Given the description of an element on the screen output the (x, y) to click on. 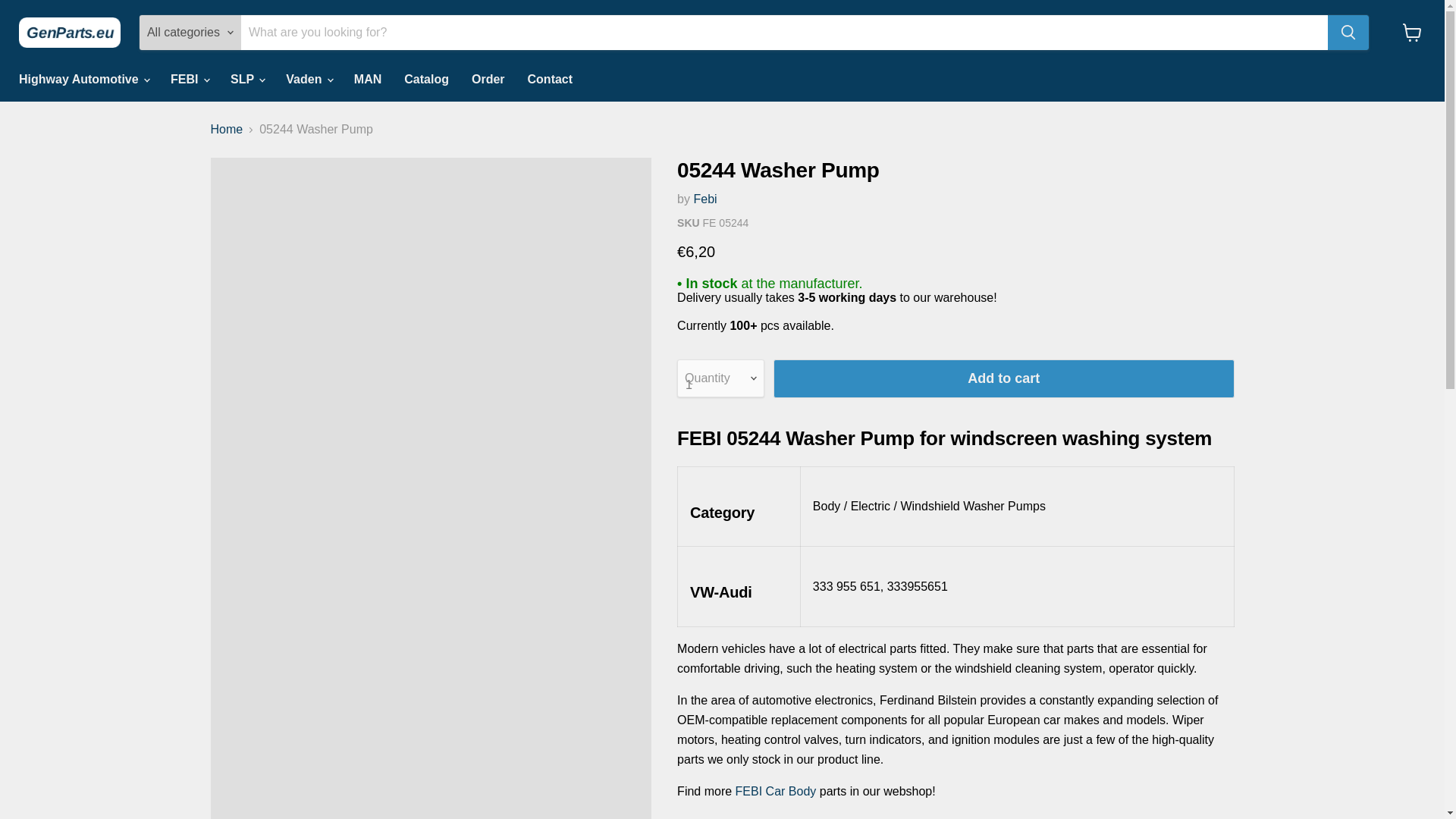
Febi (704, 198)
View cart (1411, 32)
FEBI Car Body (775, 790)
